Given the description of an element on the screen output the (x, y) to click on. 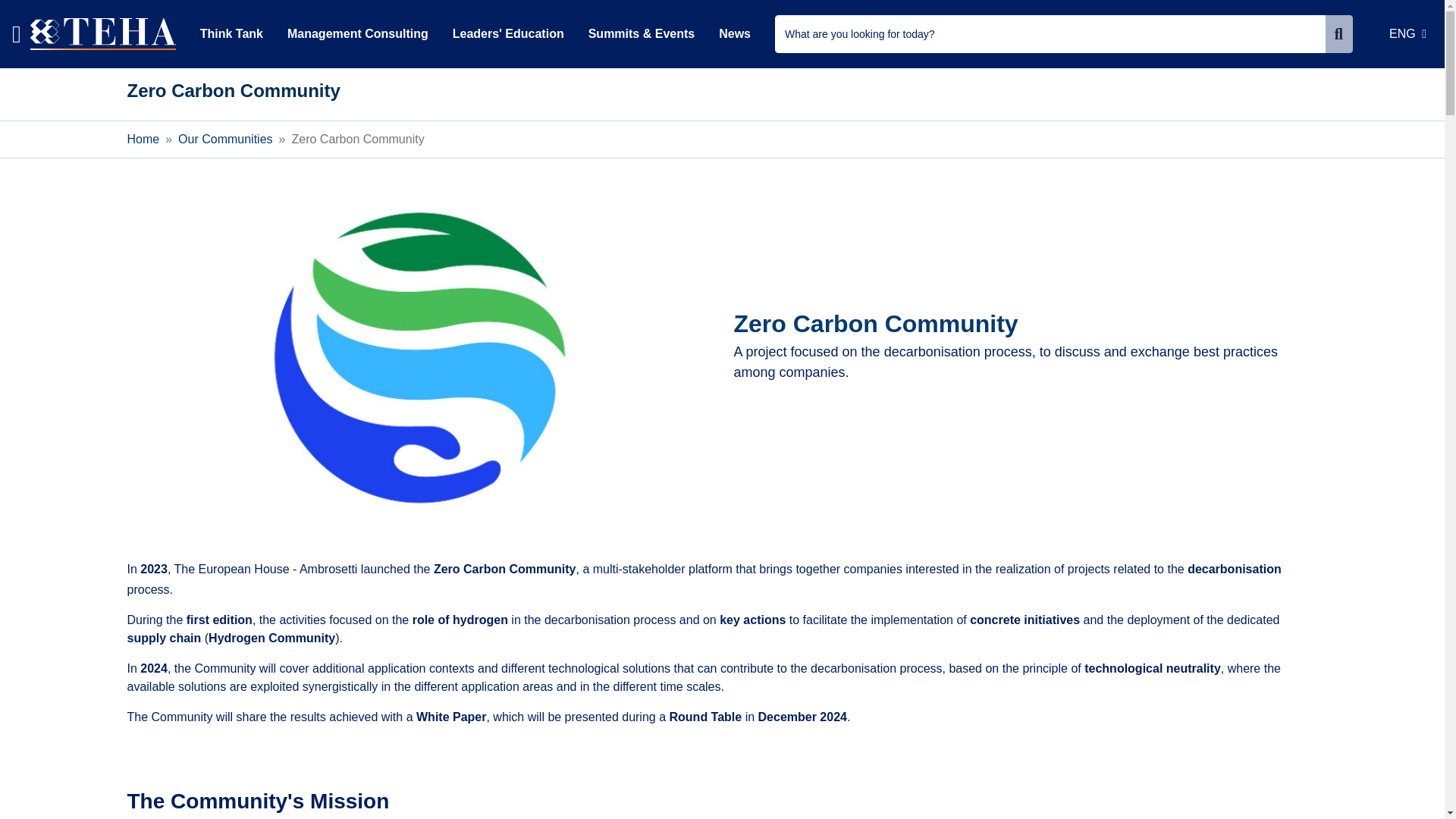
Think Tank (231, 35)
Management Consulting (358, 35)
News (734, 35)
ENG (1407, 33)
Leaders' Education (508, 35)
